Given the description of an element on the screen output the (x, y) to click on. 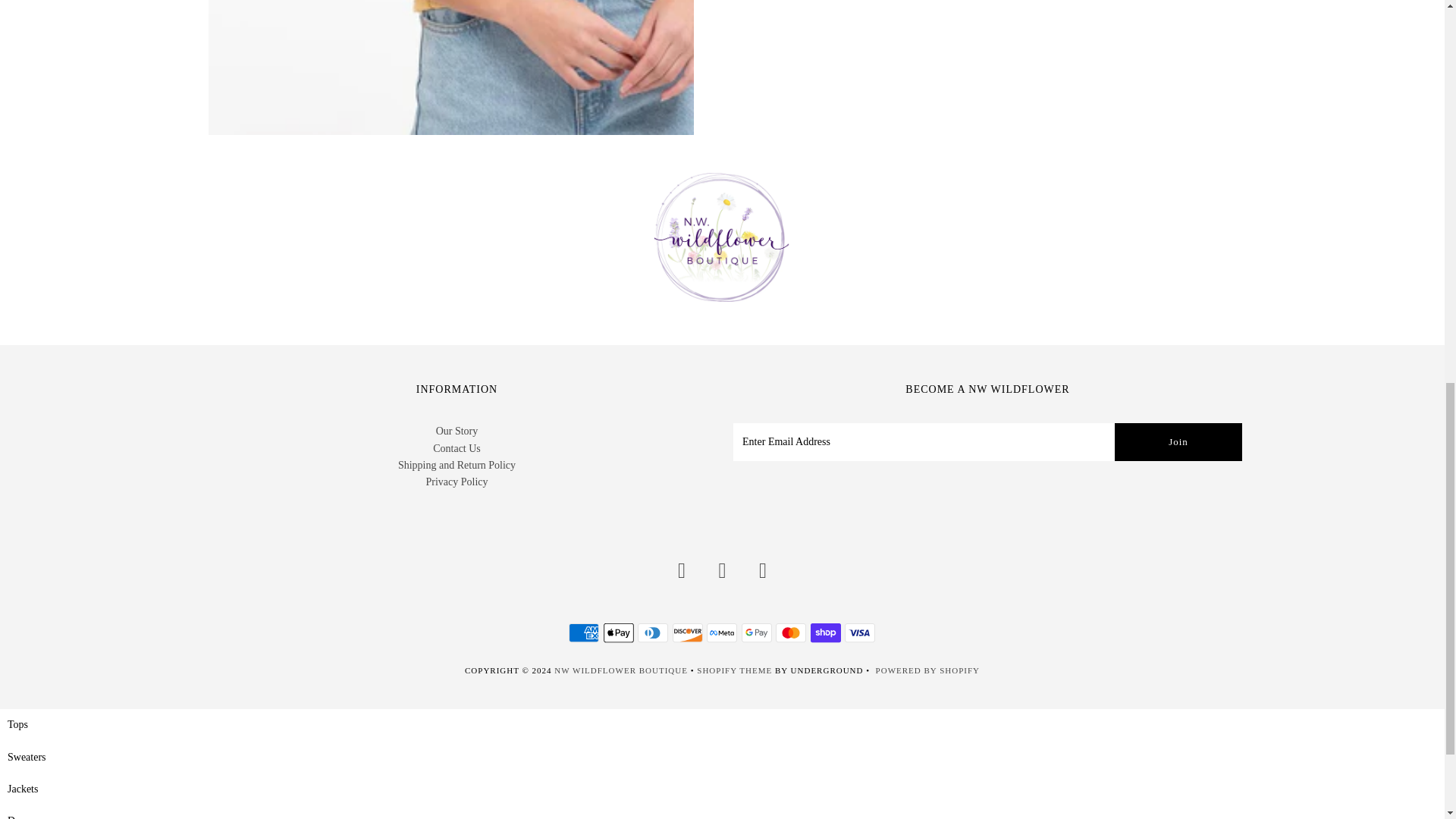
Visa (859, 632)
Google Pay (756, 632)
Shop Pay (825, 632)
POWERED BY SHOPIFY (927, 669)
Diners Club (652, 632)
Discover (687, 632)
Privacy Policy (456, 481)
Join (1178, 442)
Sweaters (26, 756)
Jackets (22, 788)
Our Story (457, 430)
Shipping and Return Policy (456, 464)
Meta Pay (721, 632)
Mastercard (791, 632)
American Express (583, 632)
